Given the description of an element on the screen output the (x, y) to click on. 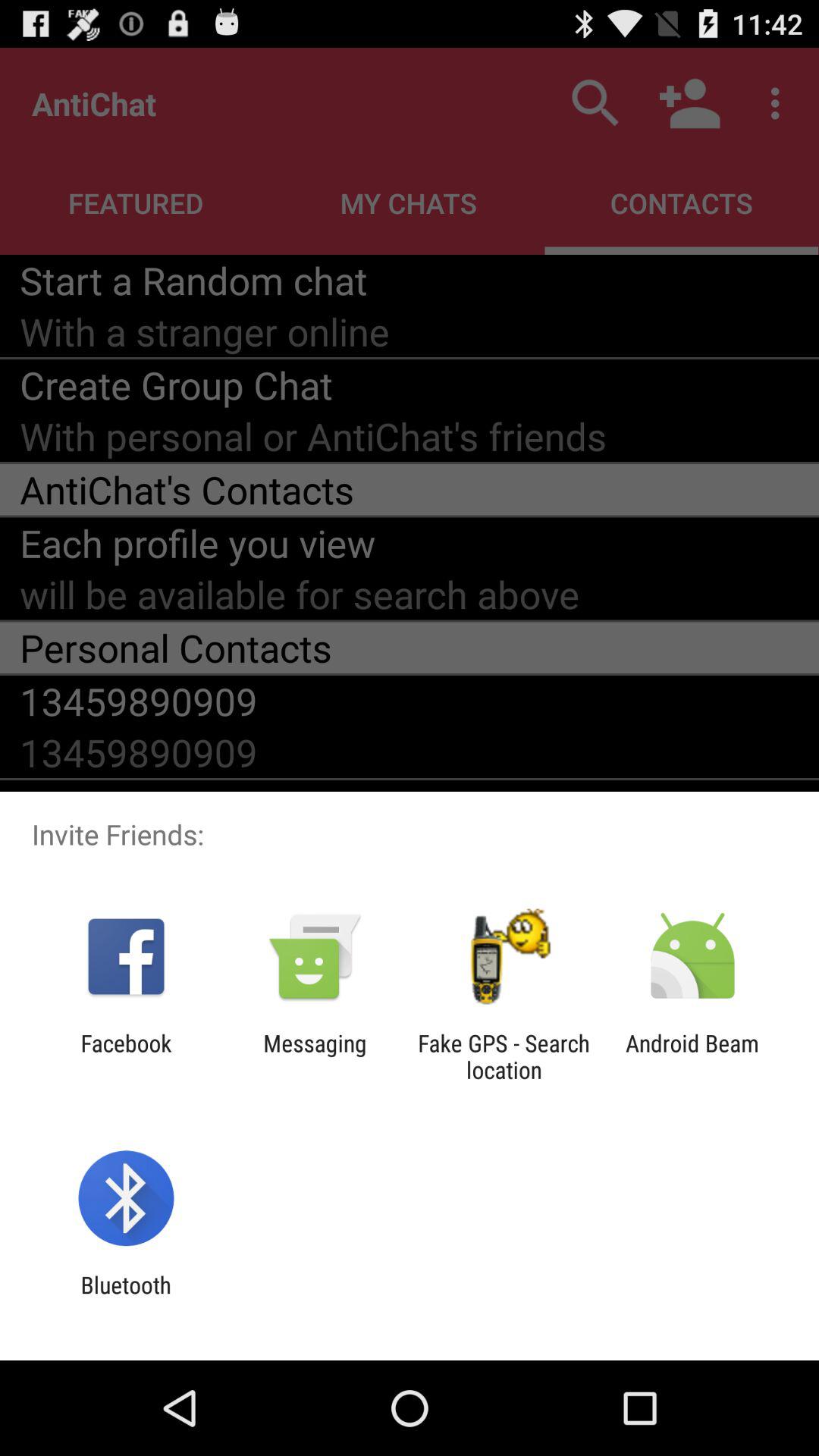
scroll until the bluetooth icon (125, 1298)
